Given the description of an element on the screen output the (x, y) to click on. 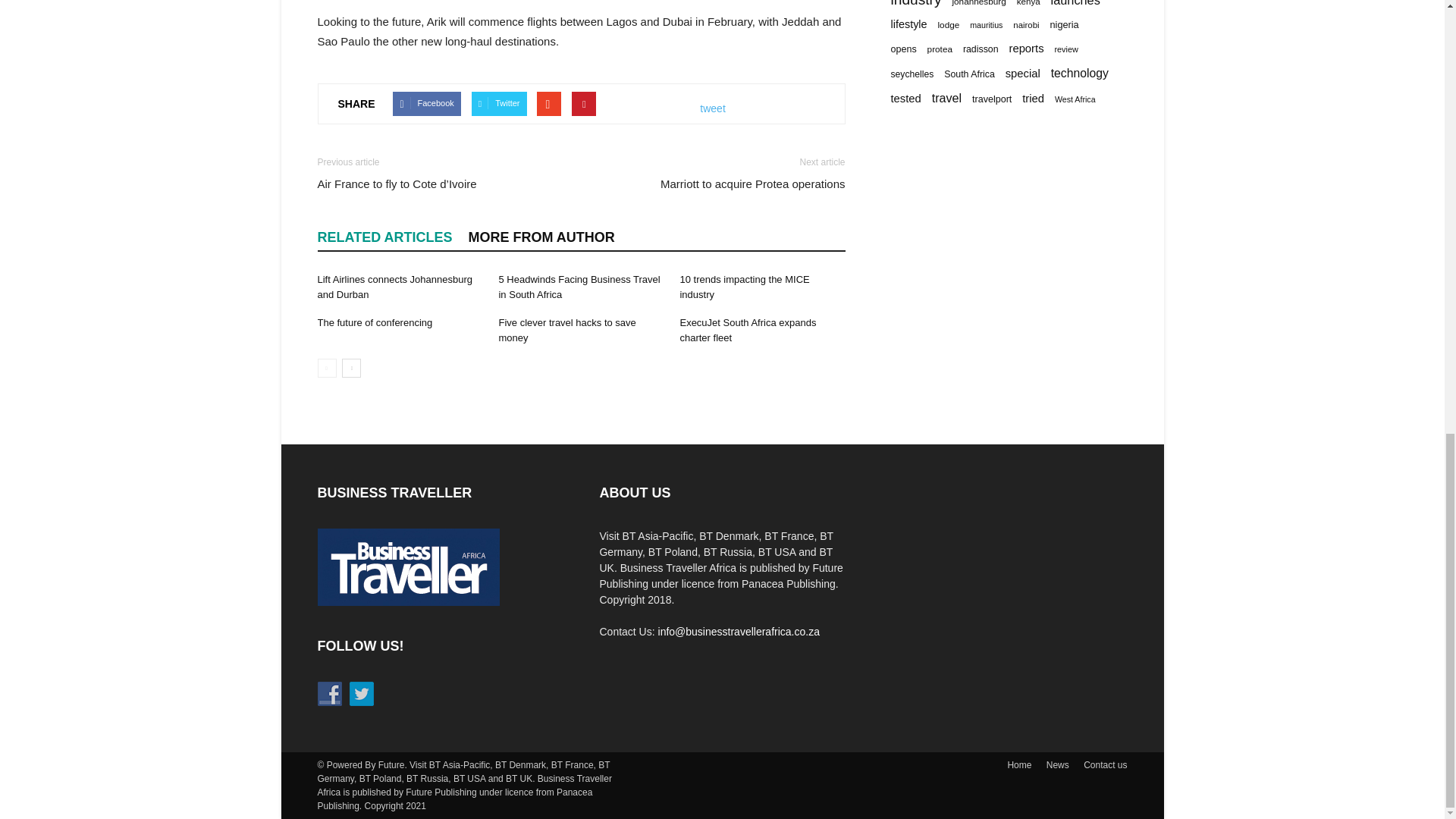
5 Headwinds Facing Business Travel in South Africa (578, 286)
The future of conferencing (374, 322)
Follow Us: Facebook (328, 693)
10 trends impacting the MICE industry (744, 286)
ExecuJet South Africa expands charter fleet (747, 329)
Five clever travel hacks to save money (565, 329)
Lift Airlines connects Johannesburg and Durban (394, 286)
